Given the description of an element on the screen output the (x, y) to click on. 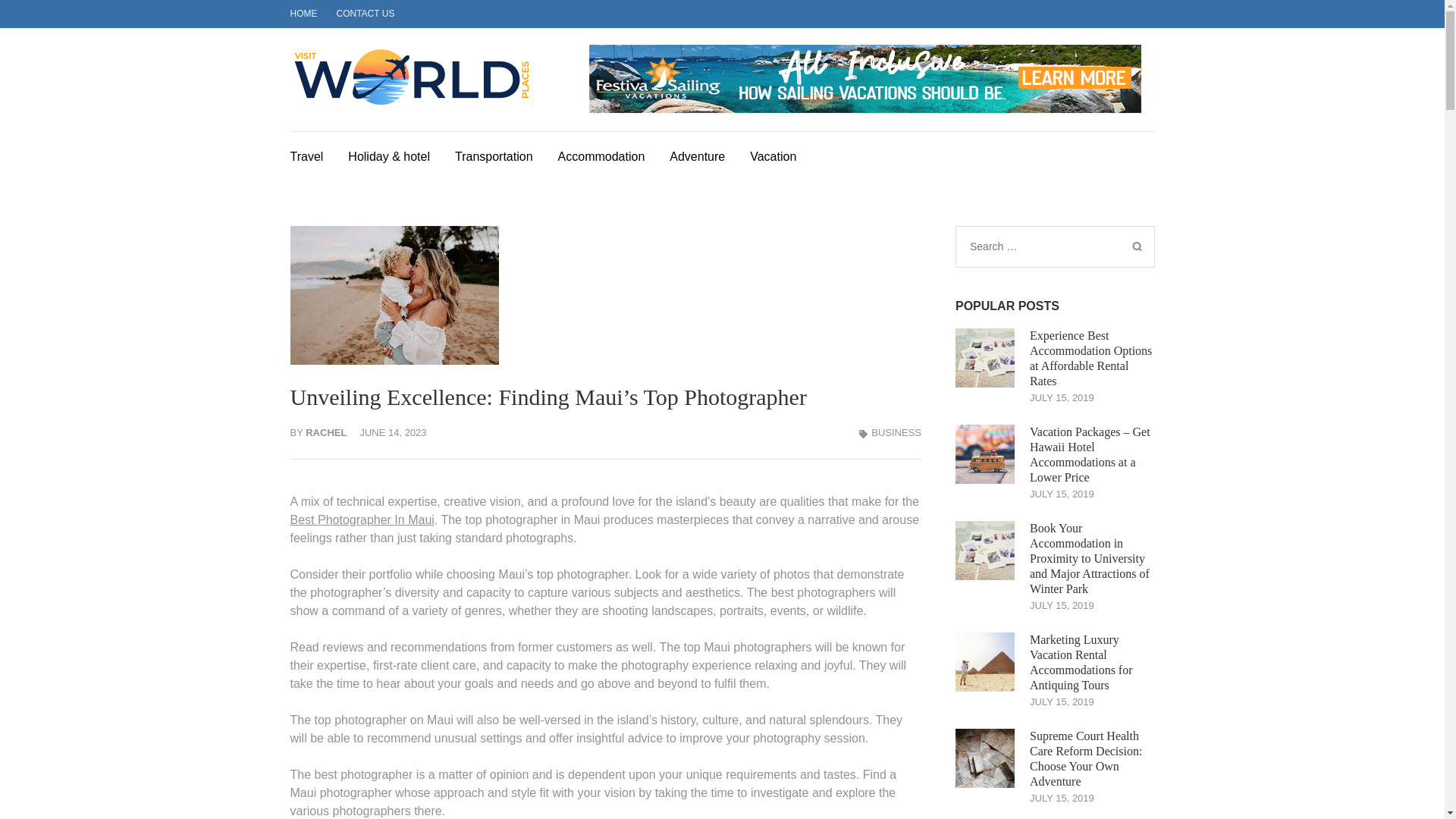
JULY 15, 2019 (1061, 397)
HOME (303, 13)
Best Photographer In Maui (361, 519)
Vacation (772, 154)
Accommodation (601, 154)
BUSINESS (895, 432)
JULY 15, 2019 (1061, 493)
Search (1136, 246)
Transportation (493, 154)
Adventure (697, 154)
